Given the description of an element on the screen output the (x, y) to click on. 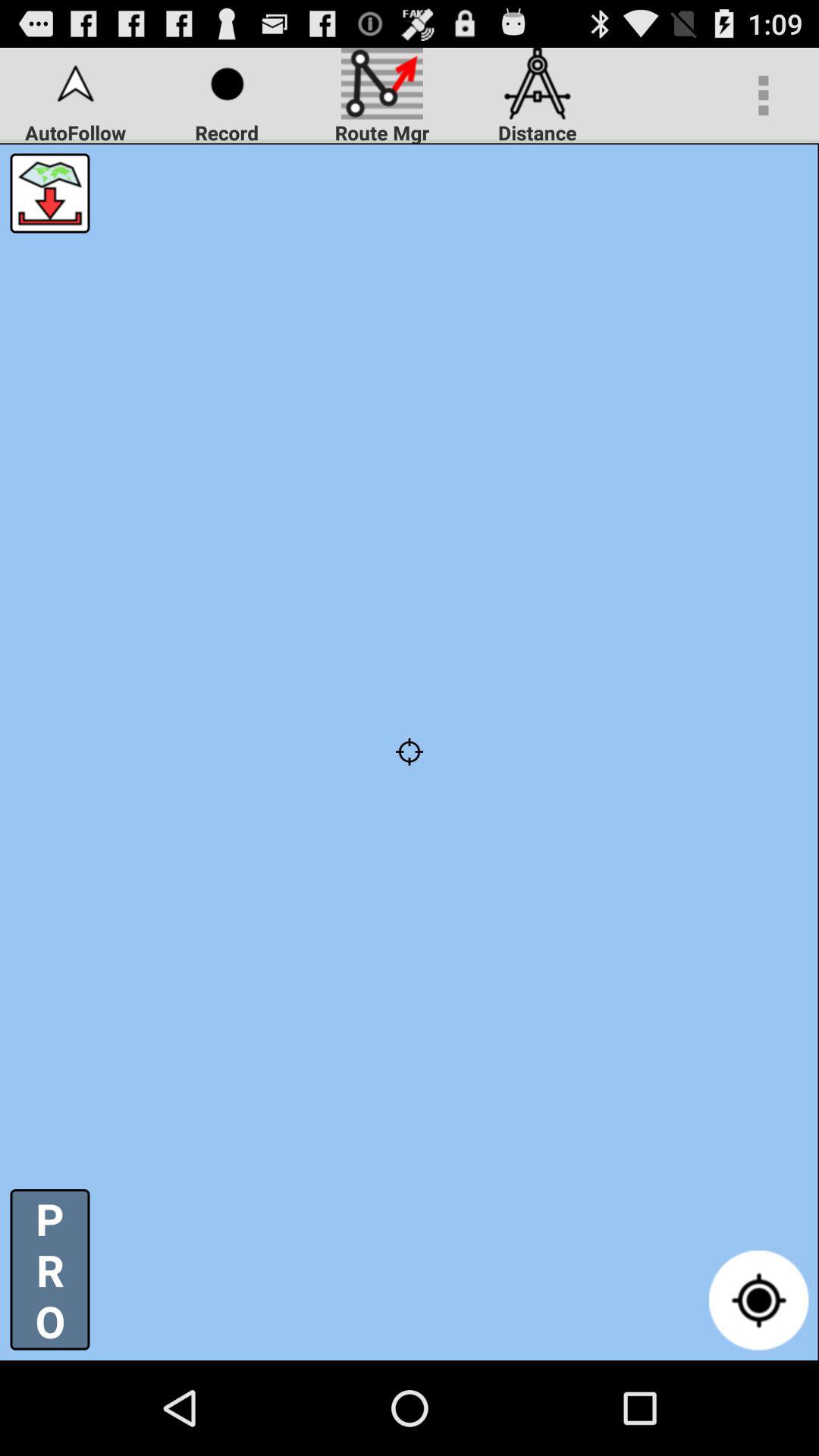
press the icon to the left of record icon (49, 193)
